Given the description of an element on the screen output the (x, y) to click on. 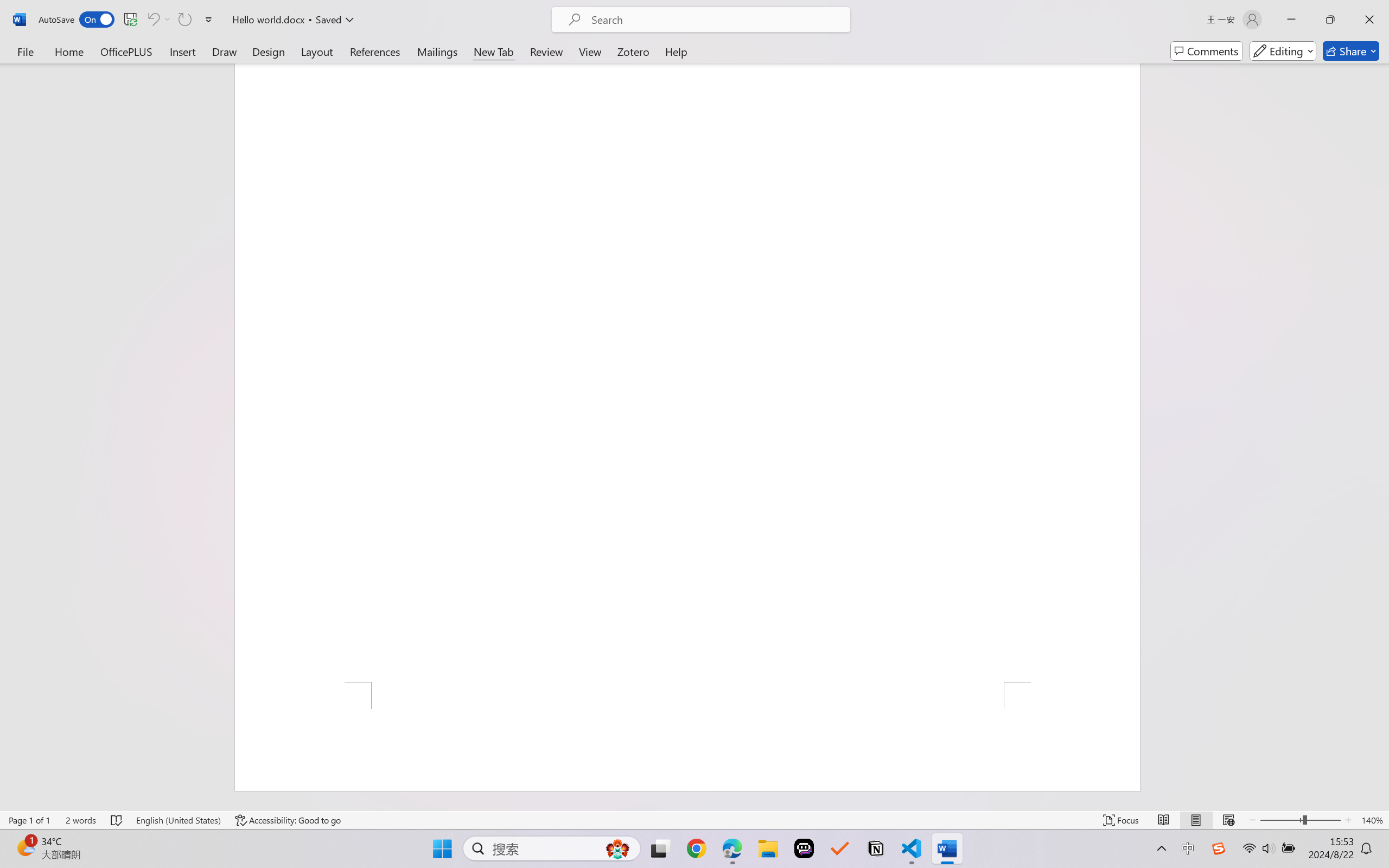
View (589, 51)
Draw (224, 51)
Share (1350, 51)
Class: Image (1218, 847)
Review (546, 51)
Accessibility Checker Accessibility: Good to go (288, 819)
File Tab (24, 51)
Zoom In (1348, 819)
New Tab (493, 51)
Minimize (1291, 19)
Home (69, 51)
Zotero (632, 51)
Spelling and Grammar Check No Errors (117, 819)
